Given the description of an element on the screen output the (x, y) to click on. 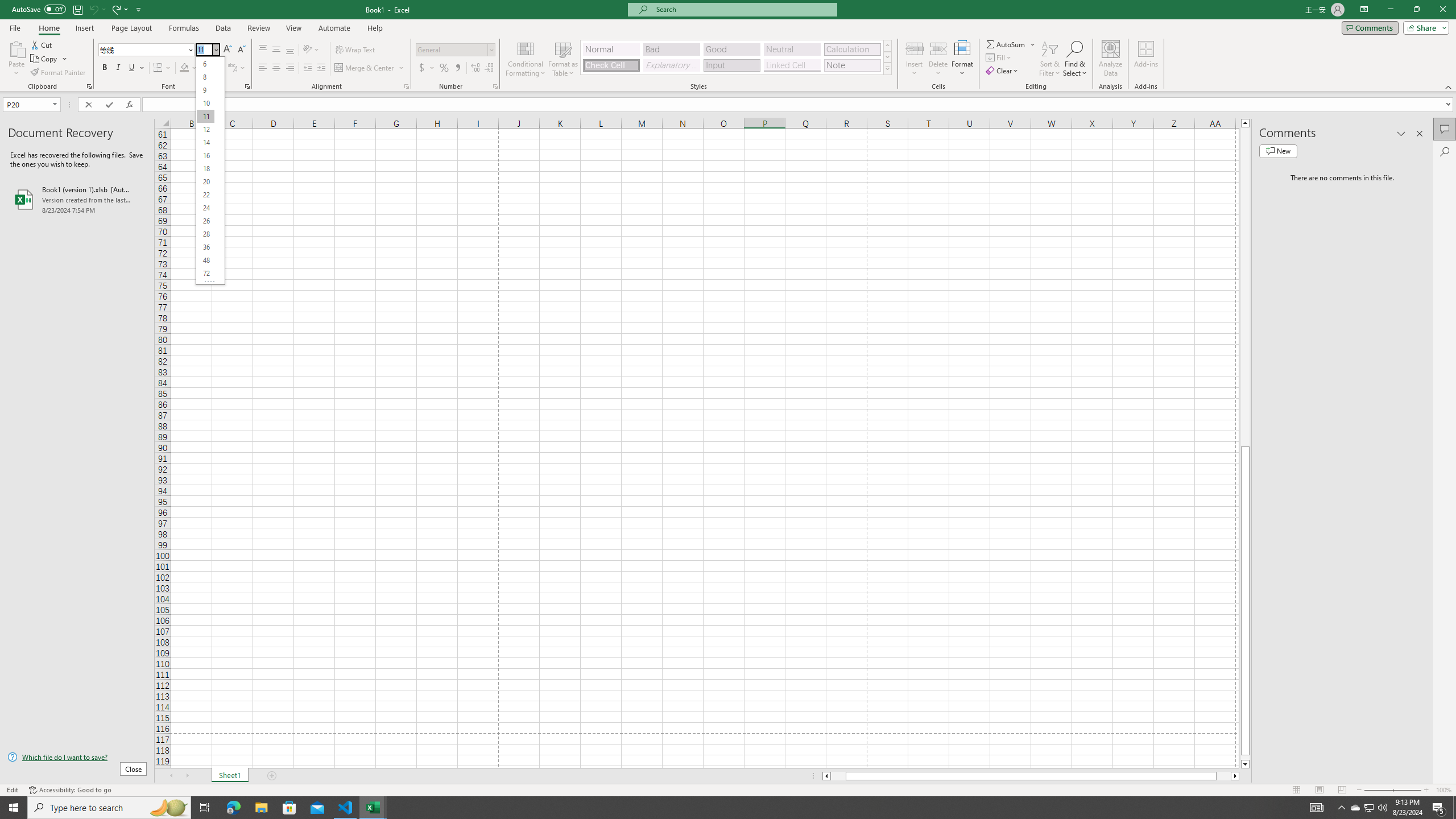
Office Clipboard... (88, 85)
Percent Style (443, 67)
Line down (1245, 764)
Page up (1245, 286)
Help (374, 28)
Increase Font Size (227, 49)
72 (205, 273)
Redo (119, 9)
Middle Align (276, 49)
Font (147, 49)
Italic (118, 67)
Automate (334, 28)
Accessibility Checker Accessibility: Good to go (70, 790)
Page Layout (131, 28)
Decrease Font Size (240, 49)
